Given the description of an element on the screen output the (x, y) to click on. 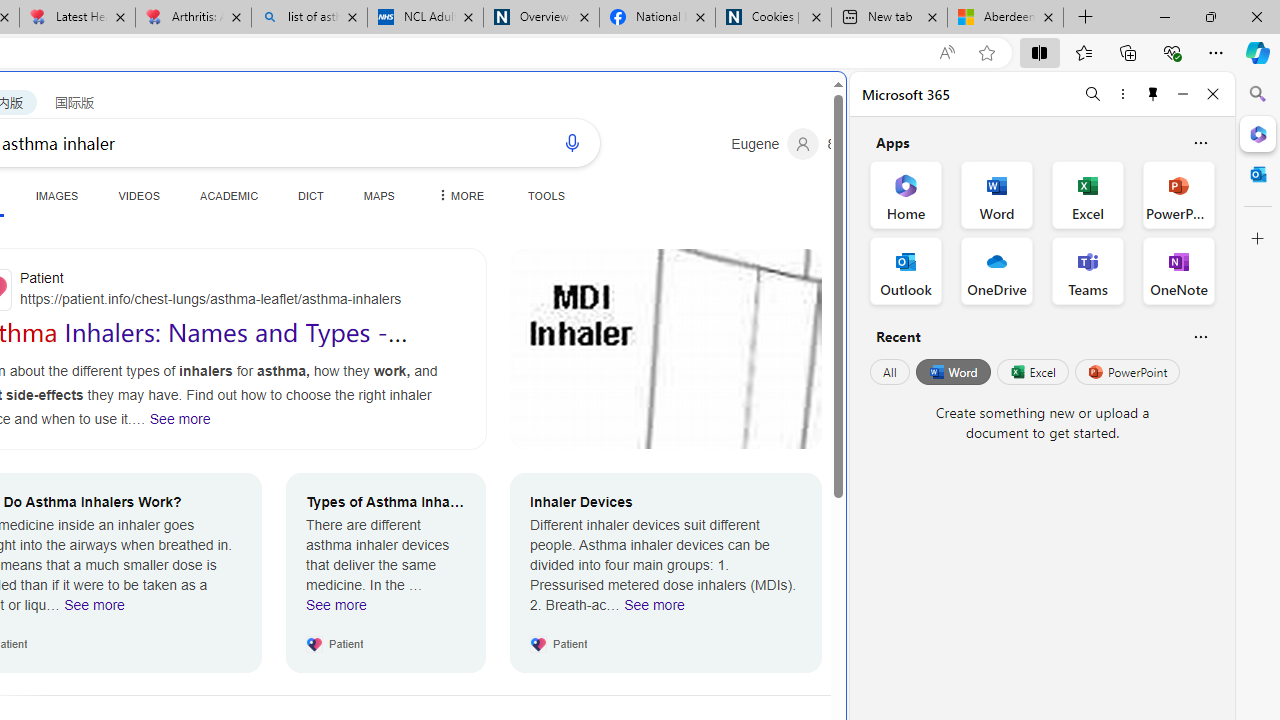
ACADEMIC (229, 195)
Microsoft Rewards 81 (856, 143)
DICT (310, 195)
Eugene (775, 143)
